Given the description of an element on the screen output the (x, y) to click on. 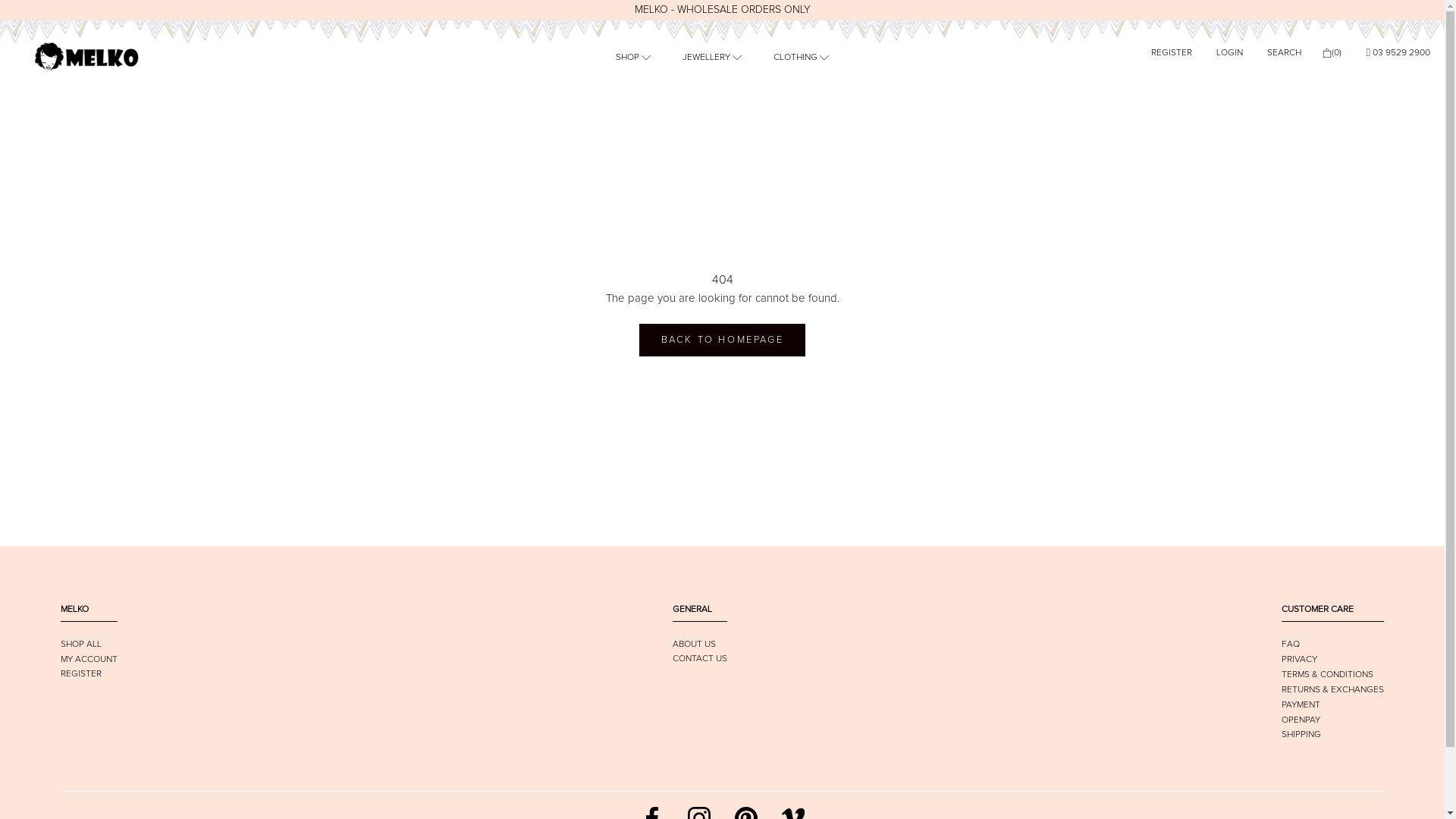
SEARCH Element type: text (1284, 53)
FAQ Element type: text (1290, 644)
OPENPAY Element type: text (1300, 719)
CONTACT US Element type: text (698, 658)
CLOTHING
CLOTHING Element type: text (800, 57)
MY ACCOUNT Element type: text (88, 659)
TERMS & CONDITIONS Element type: text (1327, 674)
ABOUT US Element type: text (693, 644)
(0) Element type: text (1331, 52)
REGISTER Element type: text (80, 673)
JEWELLERY
JEWELLERY Element type: text (711, 57)
SHOP ALL Element type: text (80, 644)
SHIPPING Element type: text (1301, 734)
PAYMENT Element type: text (1300, 704)
REGISTER Element type: text (1171, 53)
LOGIN Element type: text (1229, 53)
RETURNS & EXCHANGES Element type: text (1332, 689)
BACK TO HOMEPAGE Element type: text (722, 339)
SHOP
SHOP Element type: text (632, 57)
PRIVACY Element type: text (1299, 659)
